Given the description of an element on the screen output the (x, y) to click on. 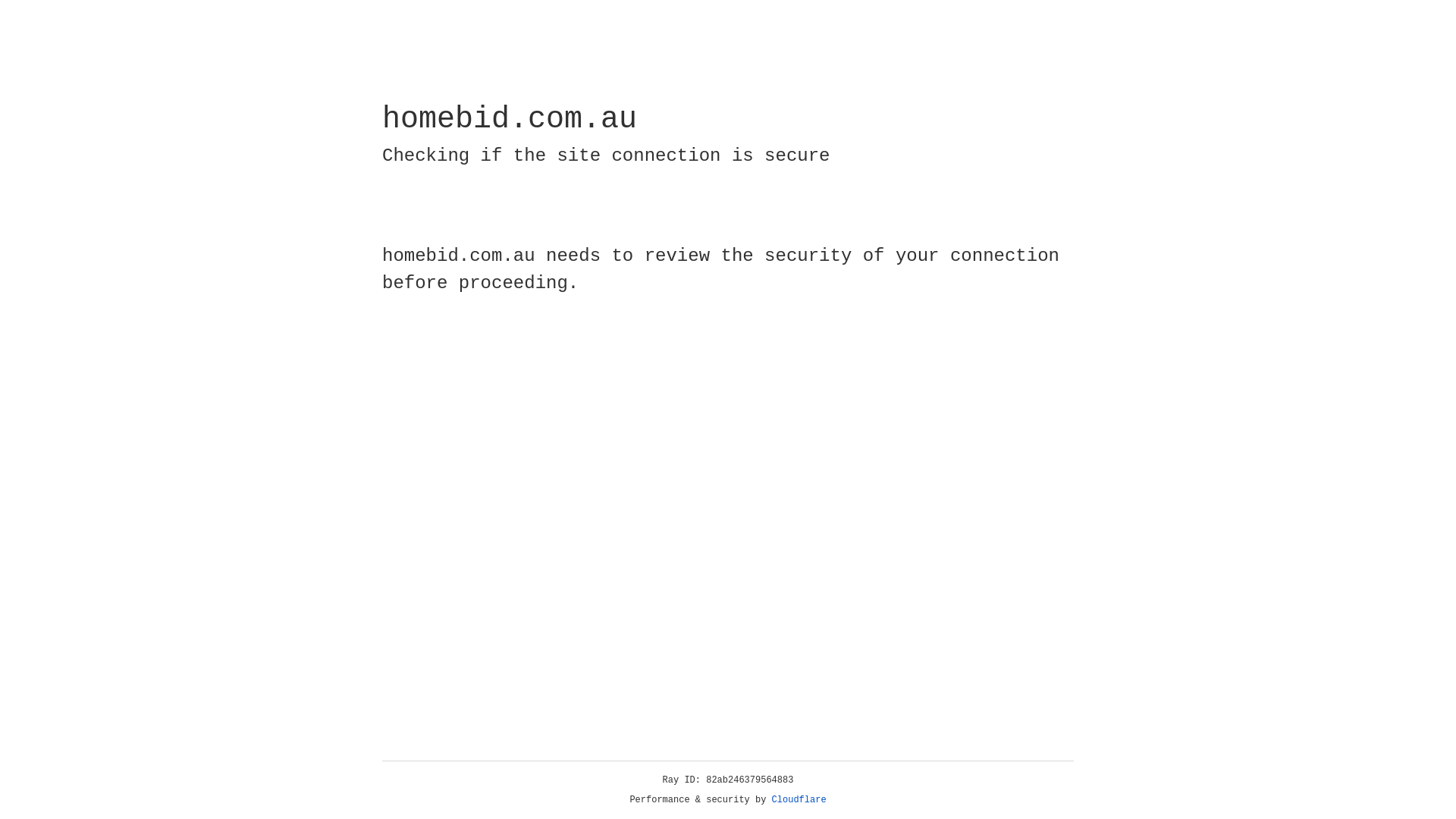
Cloudflare Element type: text (798, 799)
